Given the description of an element on the screen output the (x, y) to click on. 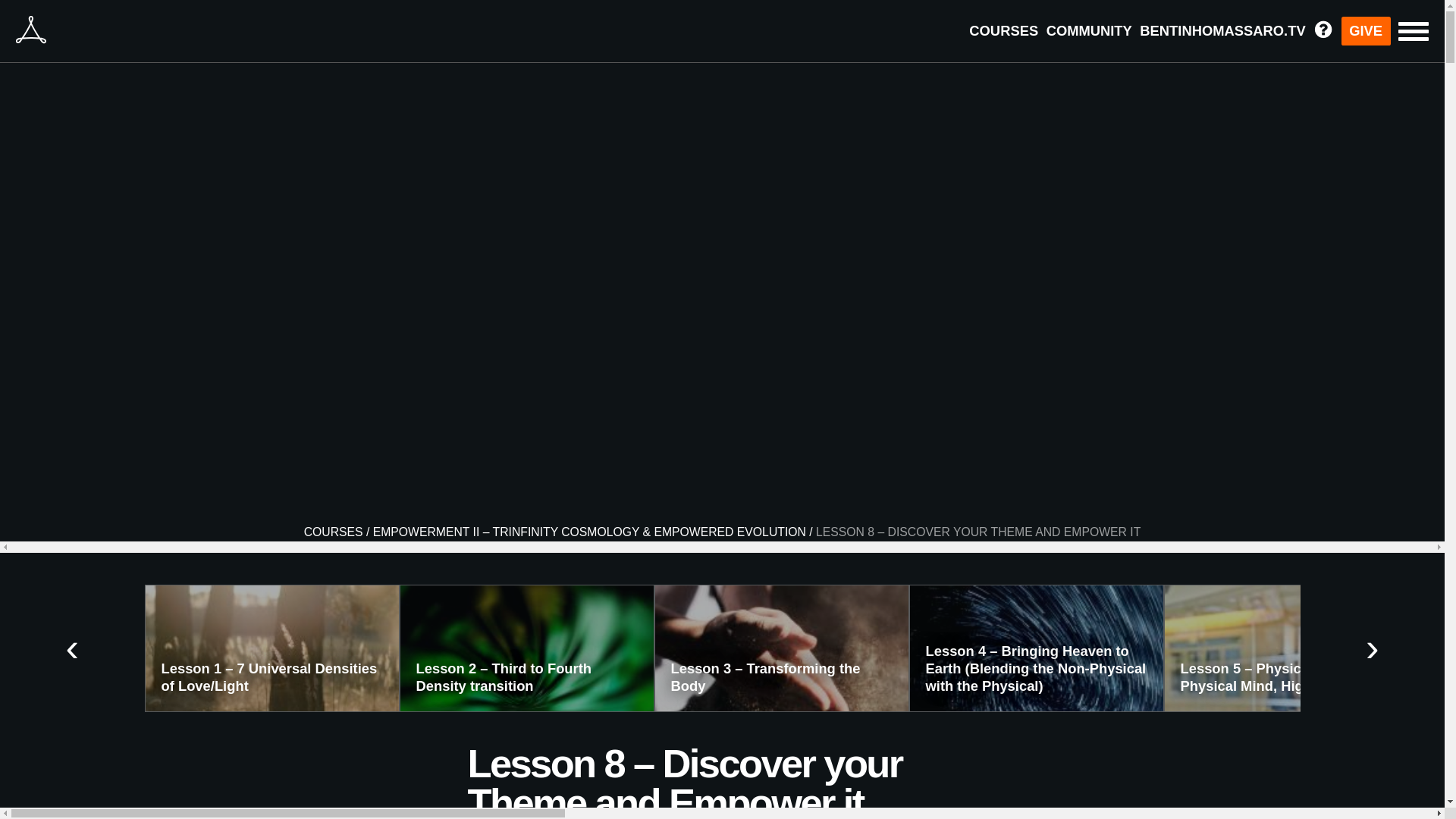
COURSES (333, 531)
COURSES (1003, 30)
BENTINHOMASSARO.TV (1222, 30)
Go to Courses. (333, 531)
GIVE (1365, 30)
Help (1323, 34)
COMMUNITY (1089, 30)
Support Trinfinity Academy (1365, 30)
